Given the description of an element on the screen output the (x, y) to click on. 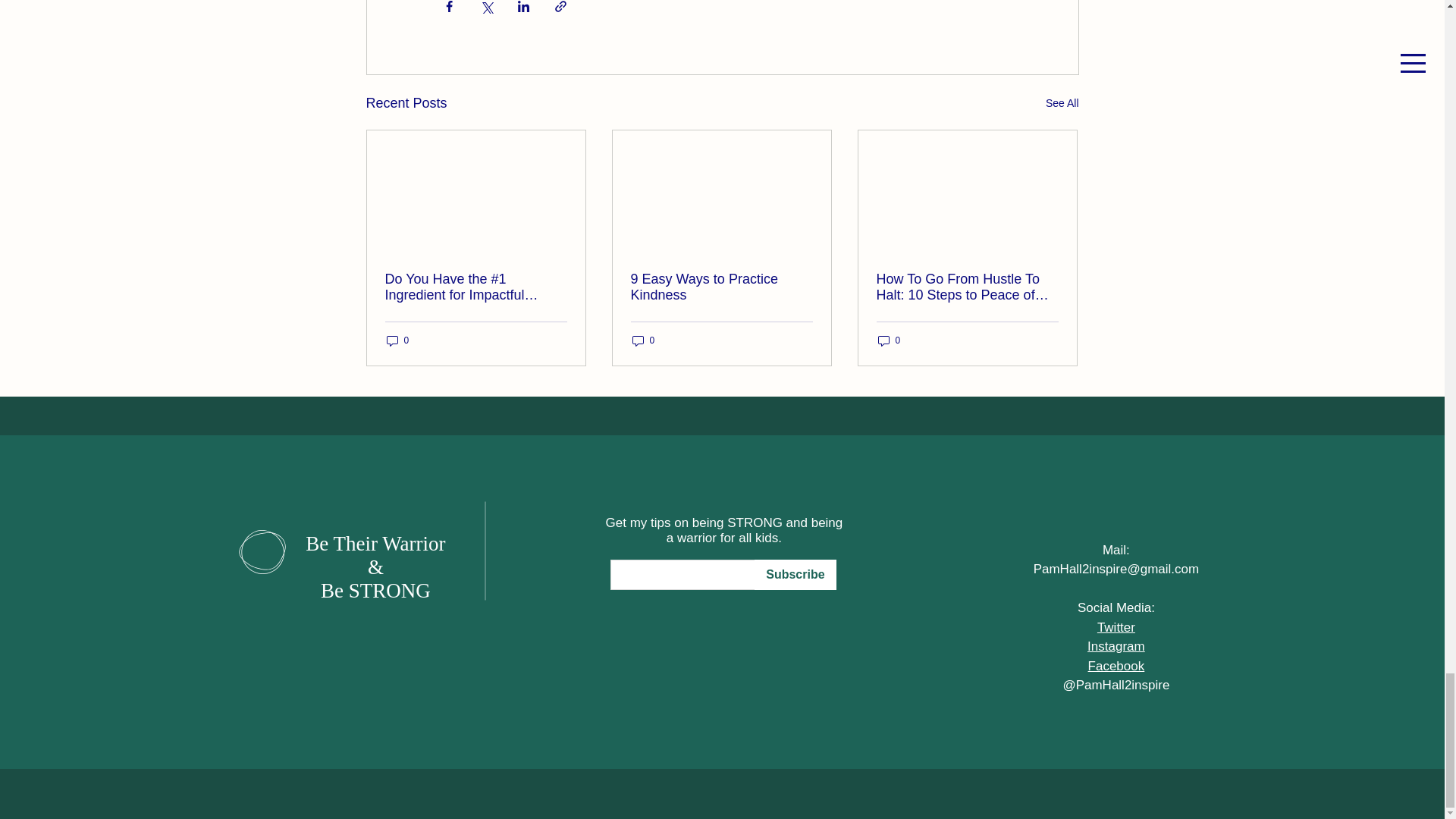
0 (643, 340)
0 (889, 340)
See All (1061, 103)
0 (397, 340)
How To Go From Hustle To Halt: 10 Steps to Peace of Mind (967, 287)
9 Easy Ways to Practice Kindness (721, 287)
Subscribe (794, 574)
Twitter (1116, 626)
